Given the description of an element on the screen output the (x, y) to click on. 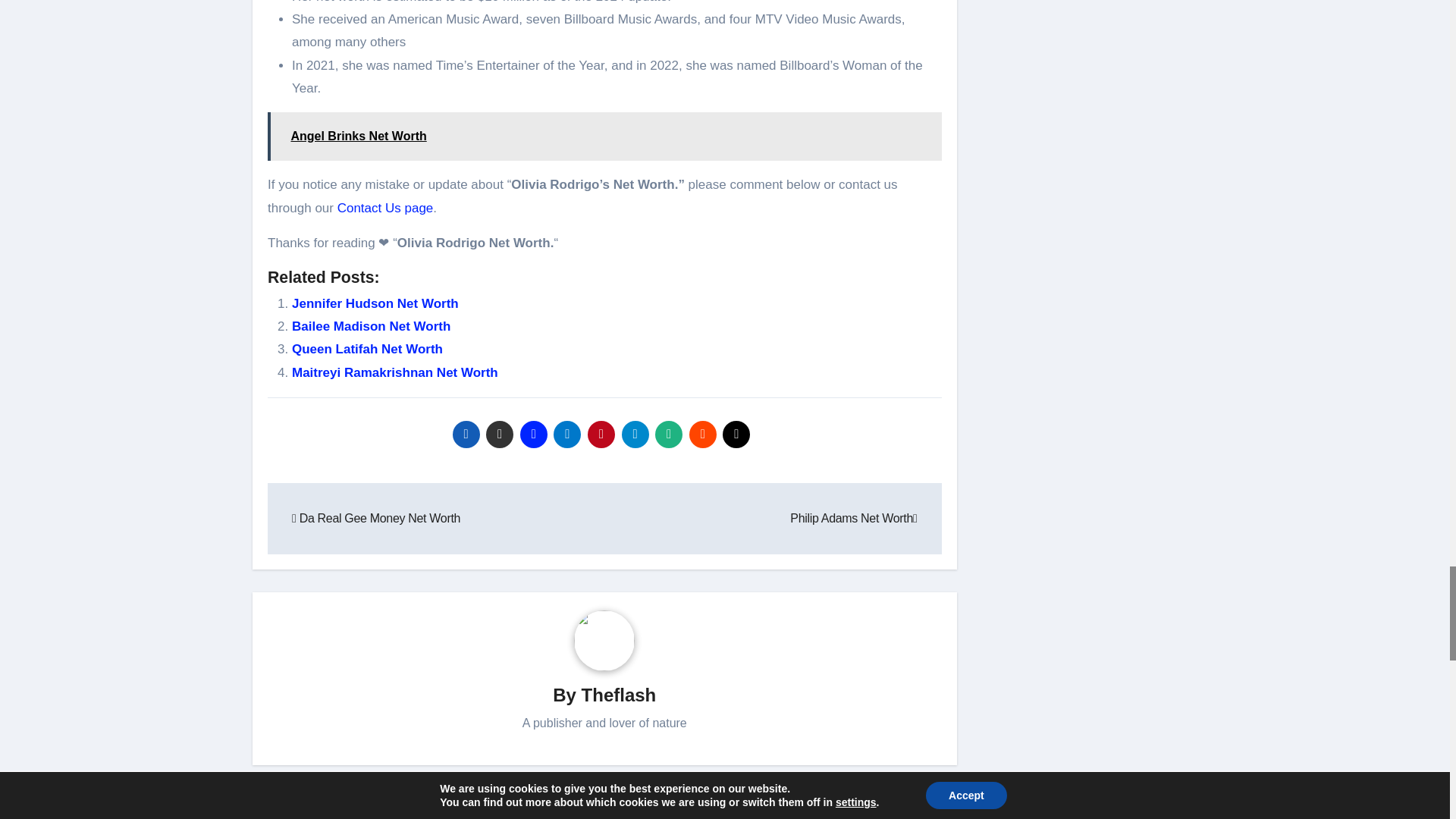
Bailee Madison Net Worth (370, 326)
Bailee Madison Net Worth (370, 326)
  Angel Brinks Net Worth (604, 136)
Queen Latifah Net Worth (367, 349)
Maitreyi Ramakrishnan Net Worth (394, 372)
Jennifer Hudson Net Worth (375, 303)
Jennifer Hudson Net Worth (375, 303)
Queen Latifah Net Worth (367, 349)
Contact Us page (385, 207)
